Given the description of an element on the screen output the (x, y) to click on. 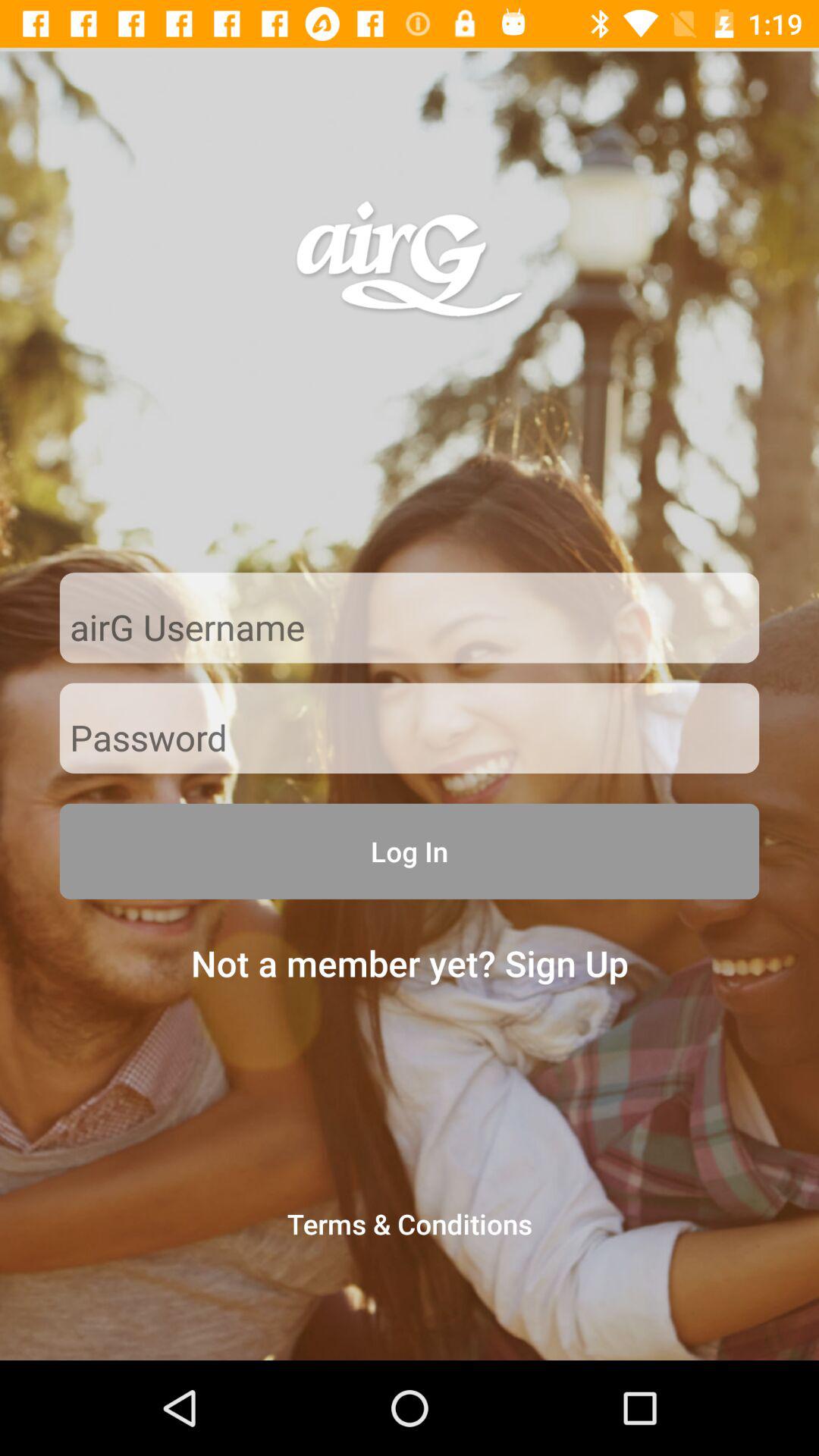
enter username (409, 628)
